Given the description of an element on the screen output the (x, y) to click on. 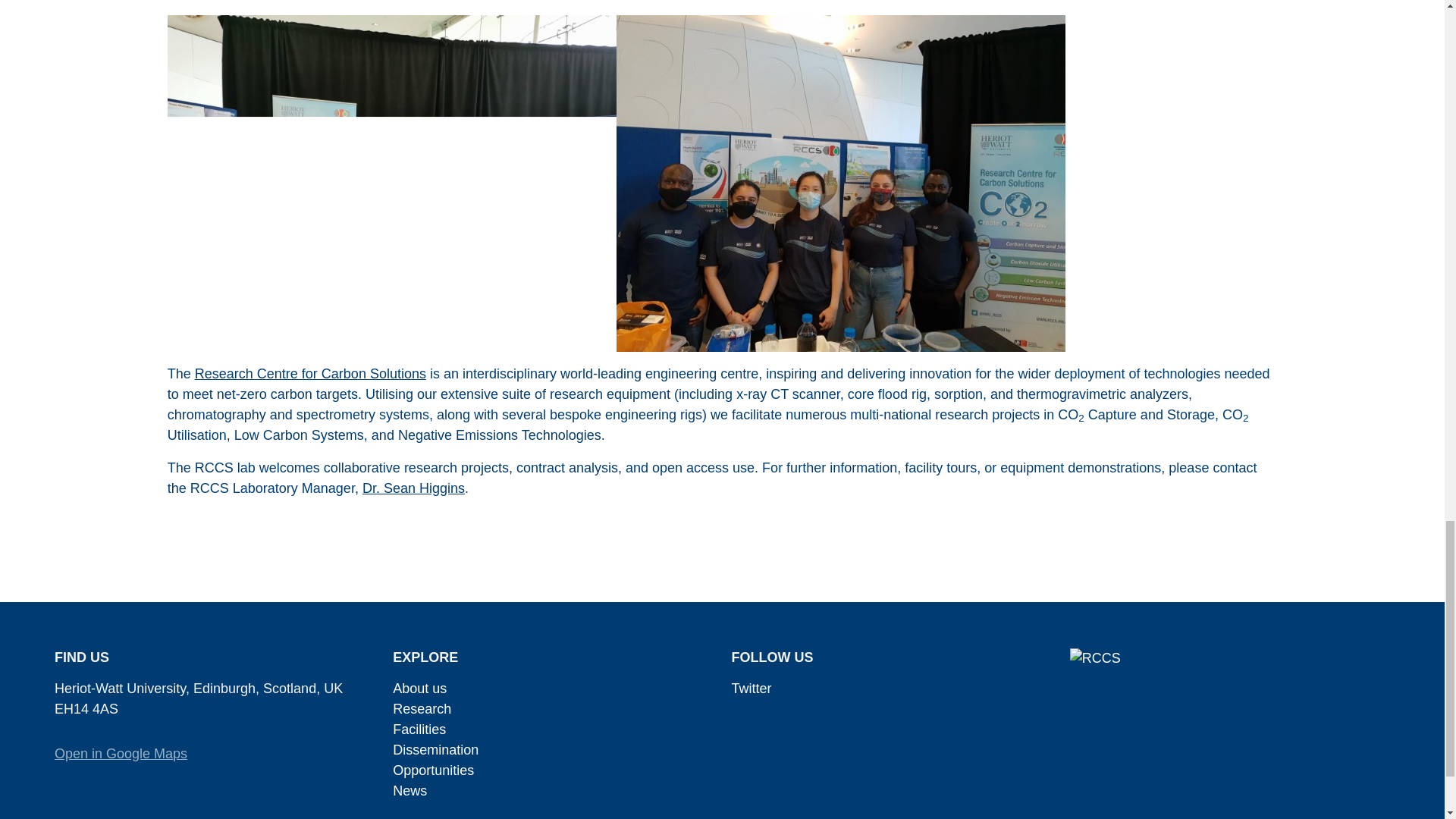
Opportunities (433, 770)
Dr. Sean Higgins (413, 488)
About us (419, 688)
Open in Google Maps (121, 753)
Research (422, 708)
Dissemination (436, 749)
News (409, 790)
Facilities (419, 729)
Research Centre for Carbon Solutions (310, 373)
Twitter (750, 688)
